Given the description of an element on the screen output the (x, y) to click on. 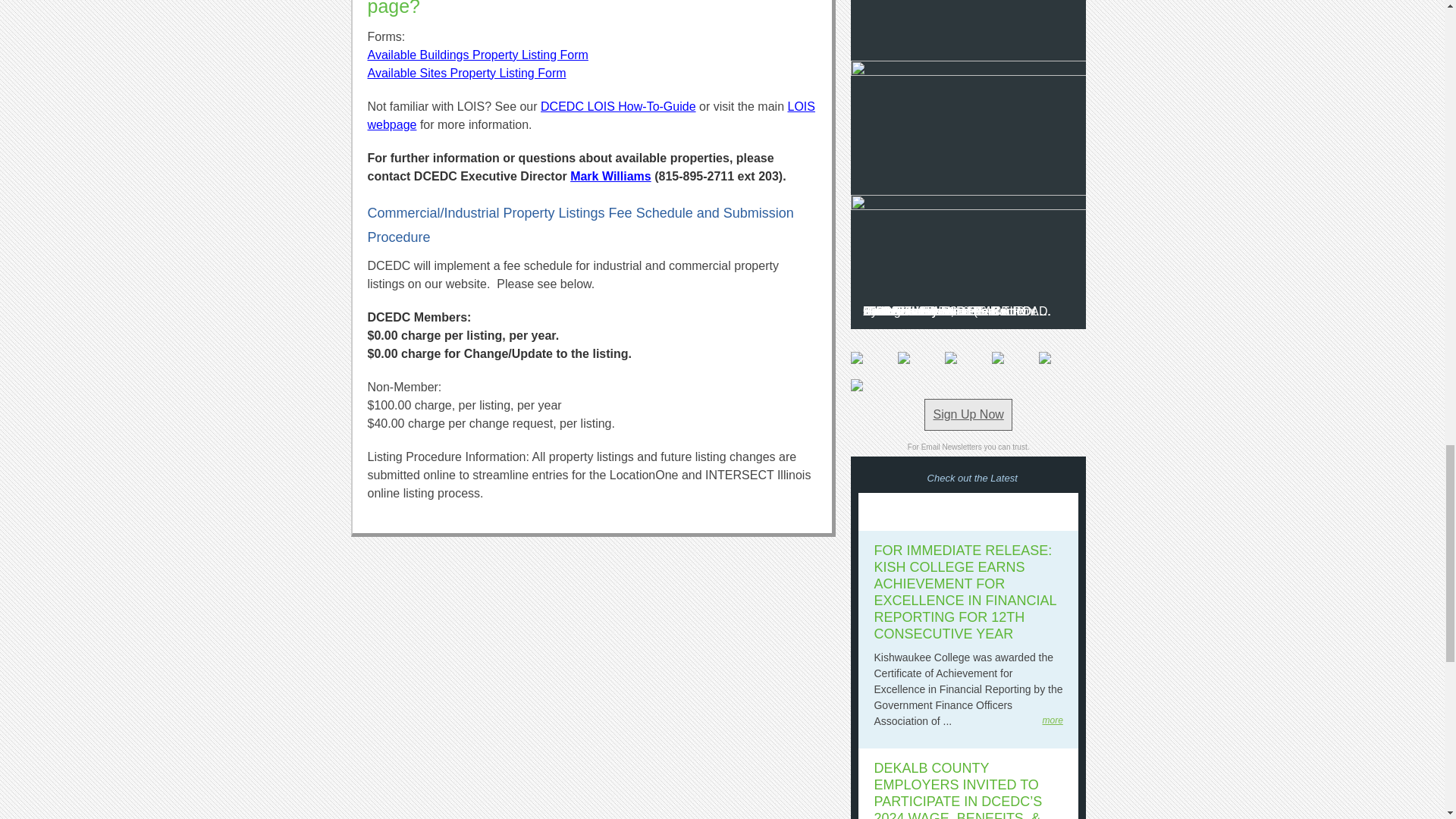
DCEDC LOIS How-To-Guide (617, 106)
Available Buildings Property Listing Form (477, 54)
LOIS webpage (589, 115)
Available Sites Property Listing Form (466, 72)
more (1052, 720)
Mark Williams (610, 175)
